Given the description of an element on the screen output the (x, y) to click on. 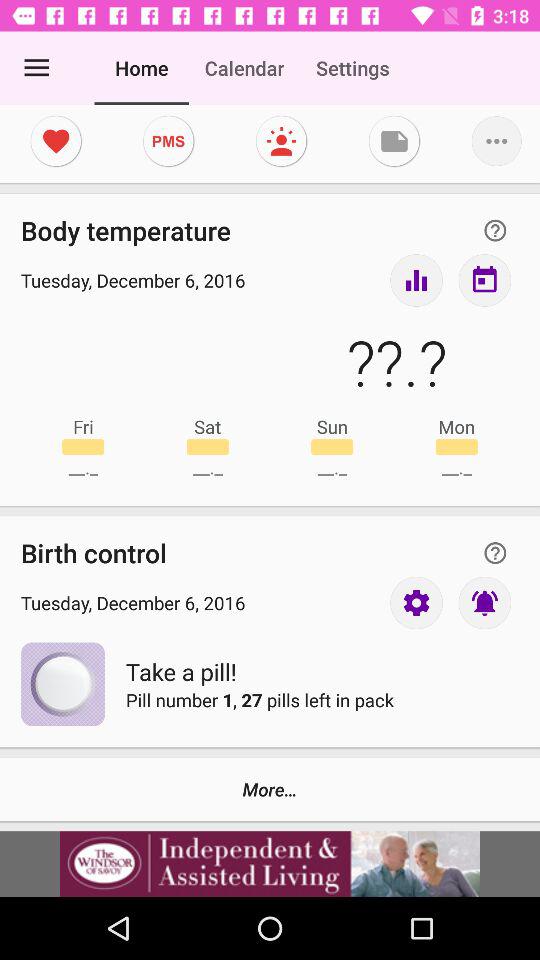
add the option (270, 864)
